Given the description of an element on the screen output the (x, y) to click on. 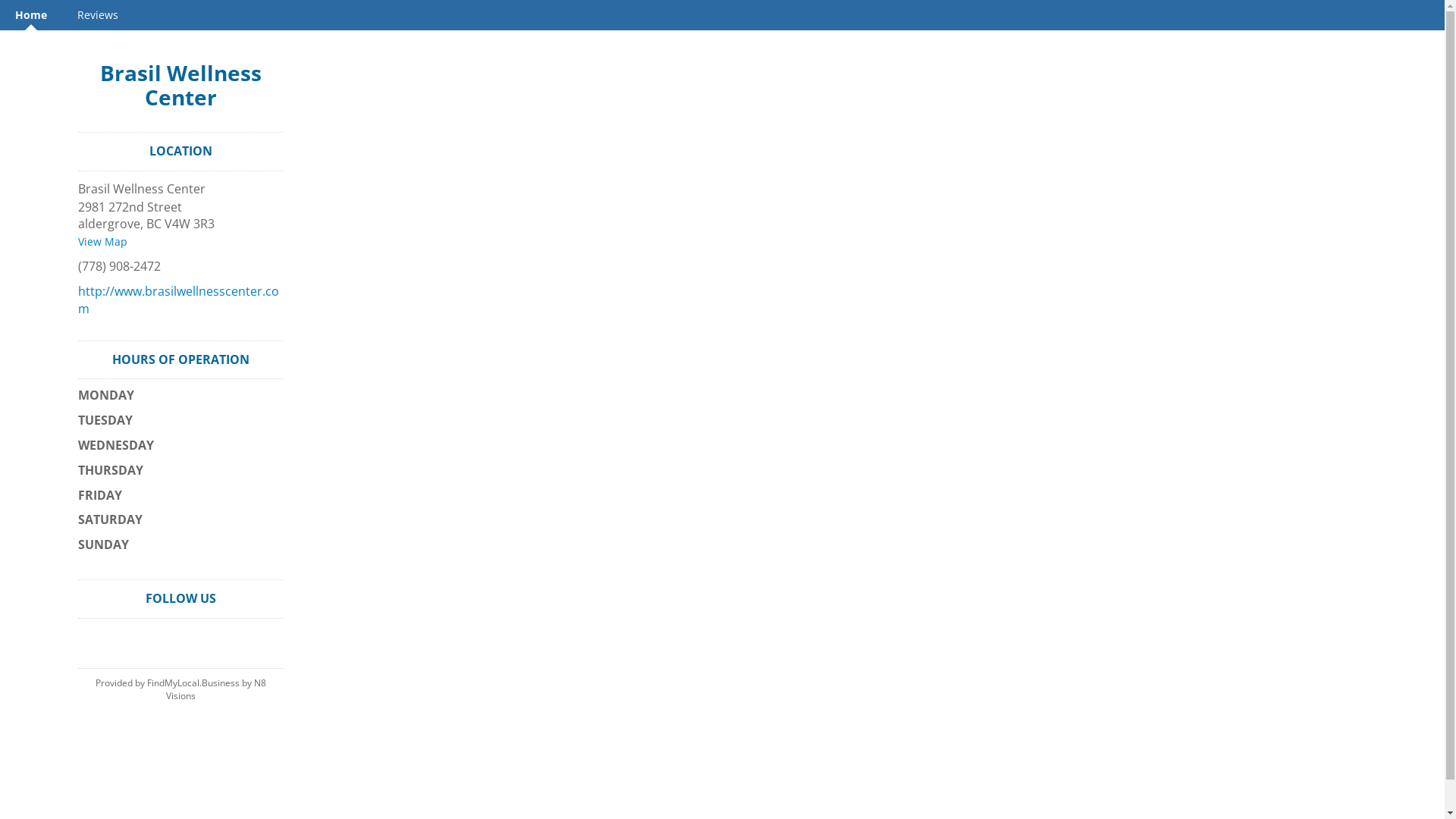
http://www.brasilwellnesscenter.com Element type: text (178, 299)
Brasil Wellness Center Element type: text (180, 84)
View Map Element type: text (102, 241)
Home Element type: text (31, 15)
Reviews Element type: text (97, 15)
